Given the description of an element on the screen output the (x, y) to click on. 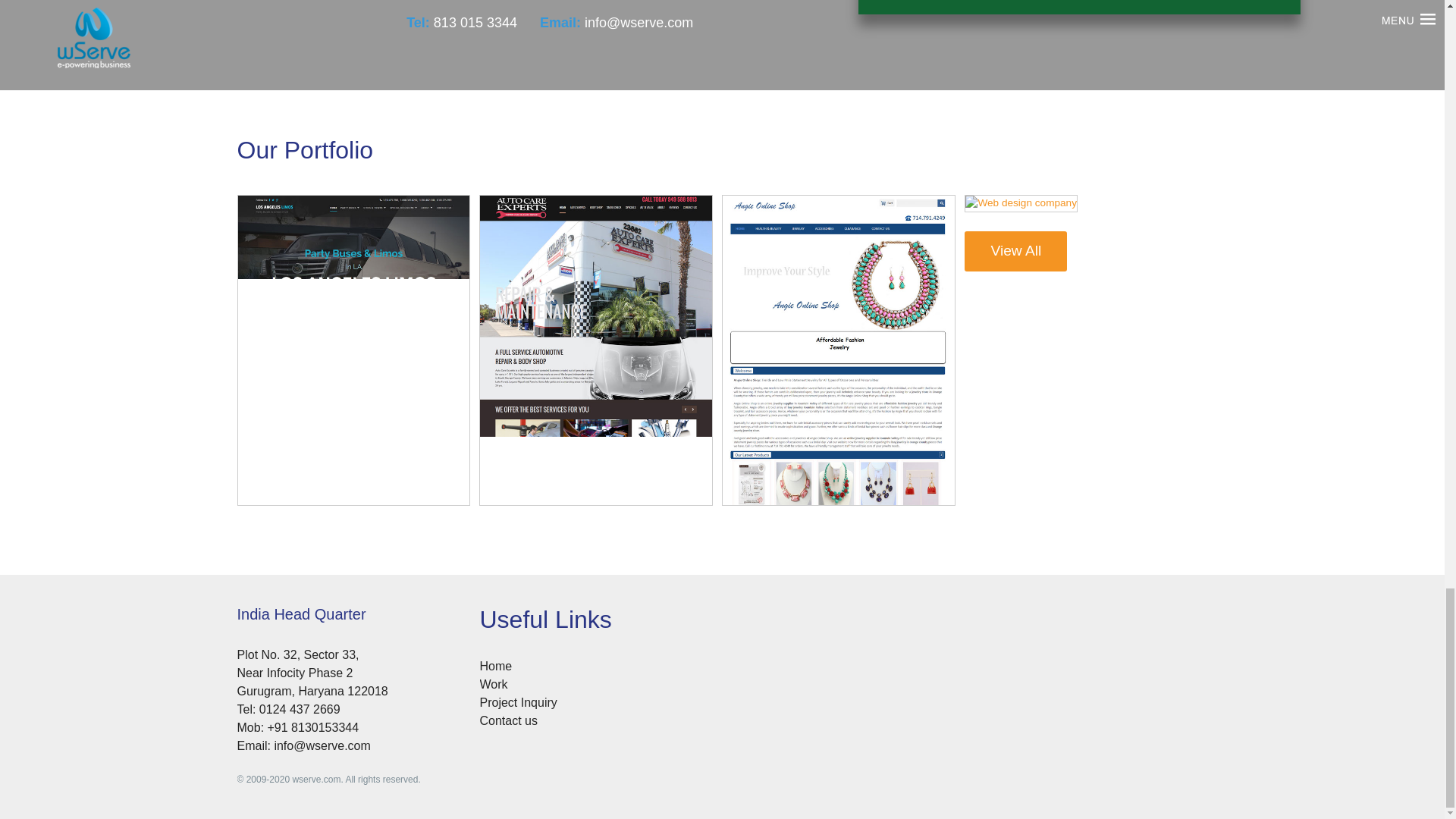
Contact us (508, 720)
Project Inquiry (517, 702)
View All (1015, 250)
0124 437 2669 (299, 708)
Work (492, 684)
Home (495, 666)
